Given the description of an element on the screen output the (x, y) to click on. 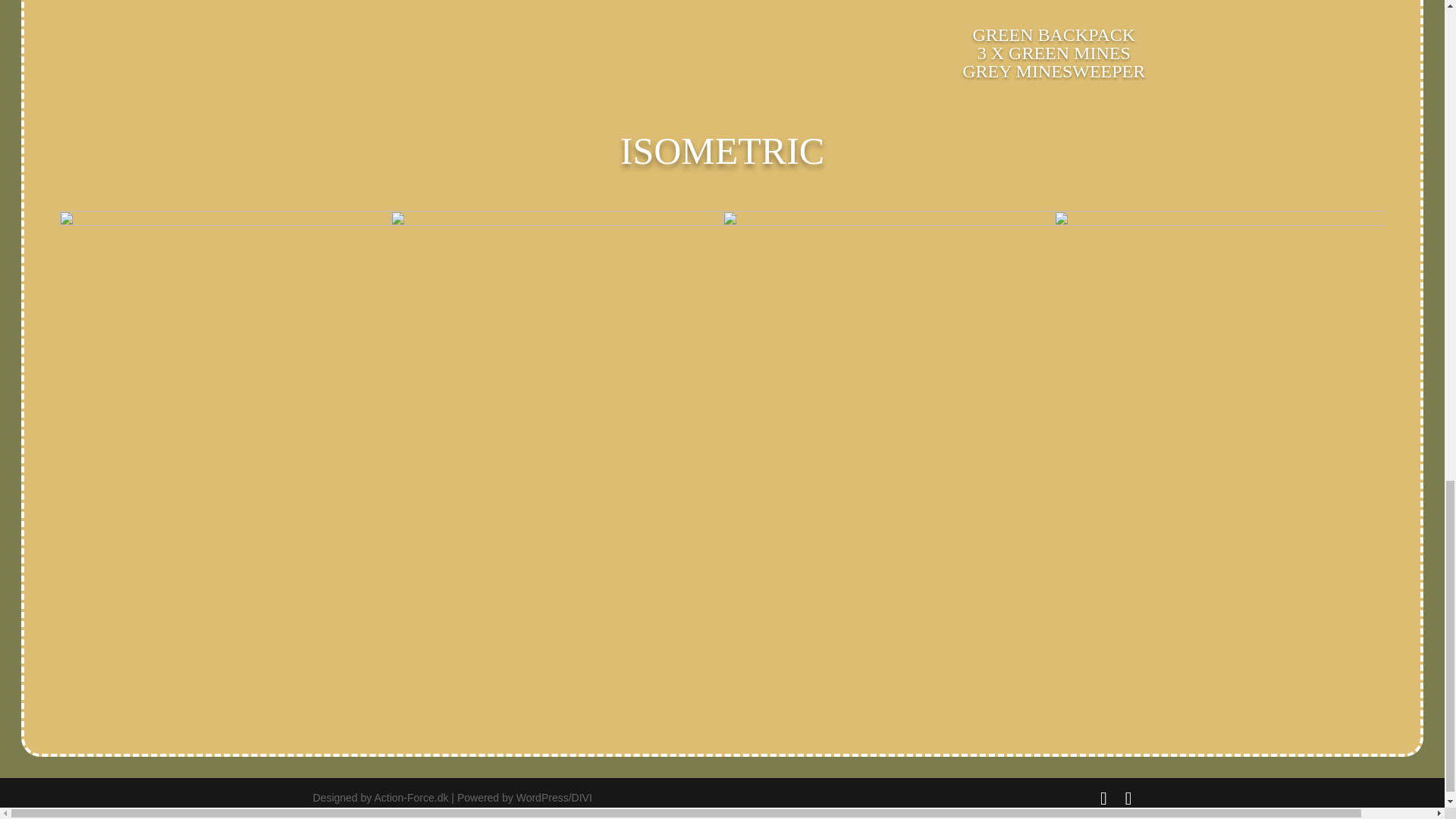
tripwire-acc (1053, 3)
